Given the description of an element on the screen output the (x, y) to click on. 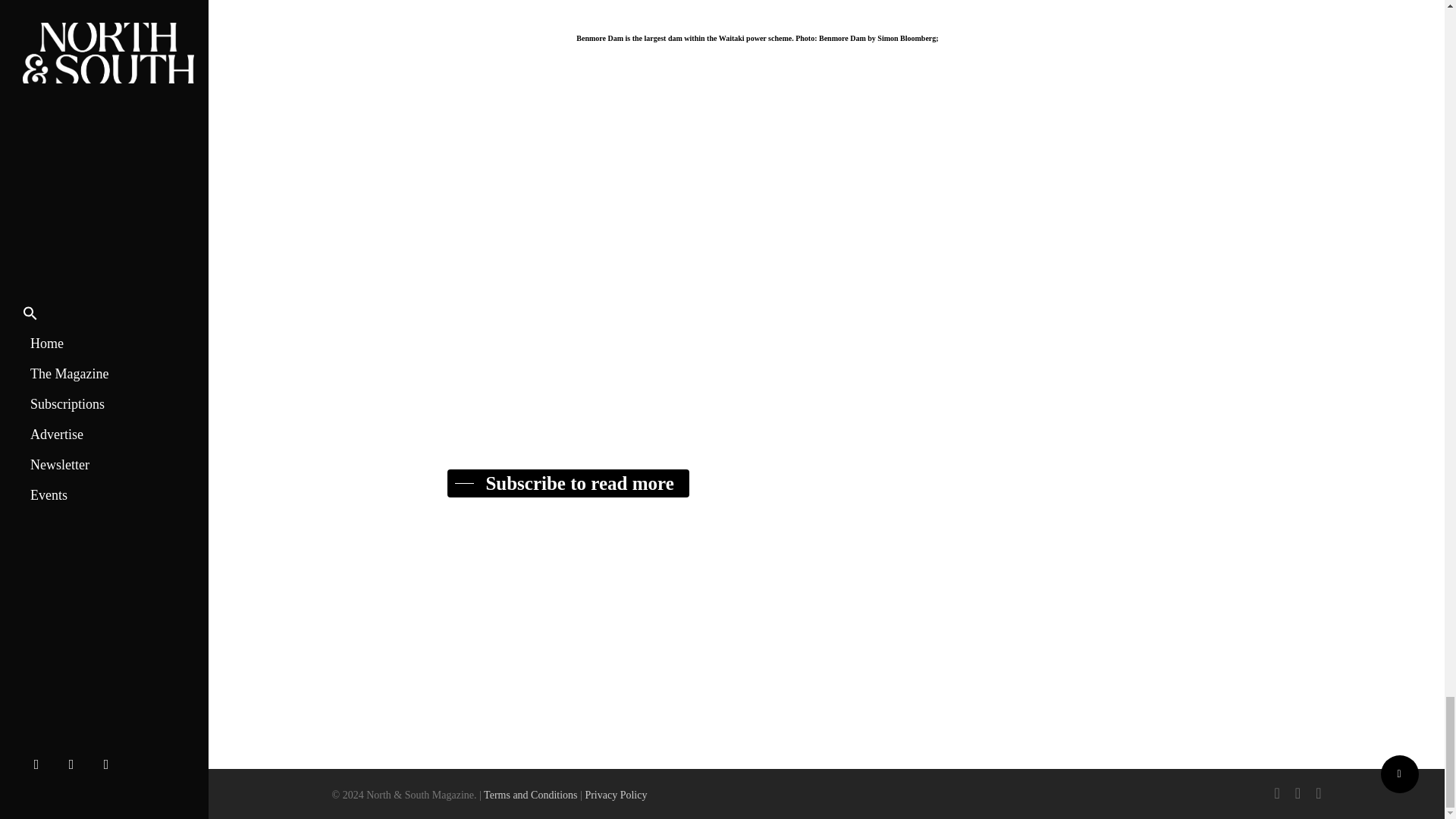
Terms and Conditions (529, 794)
Subscribe to read more (567, 483)
Privacy Policy (615, 794)
